Given the description of an element on the screen output the (x, y) to click on. 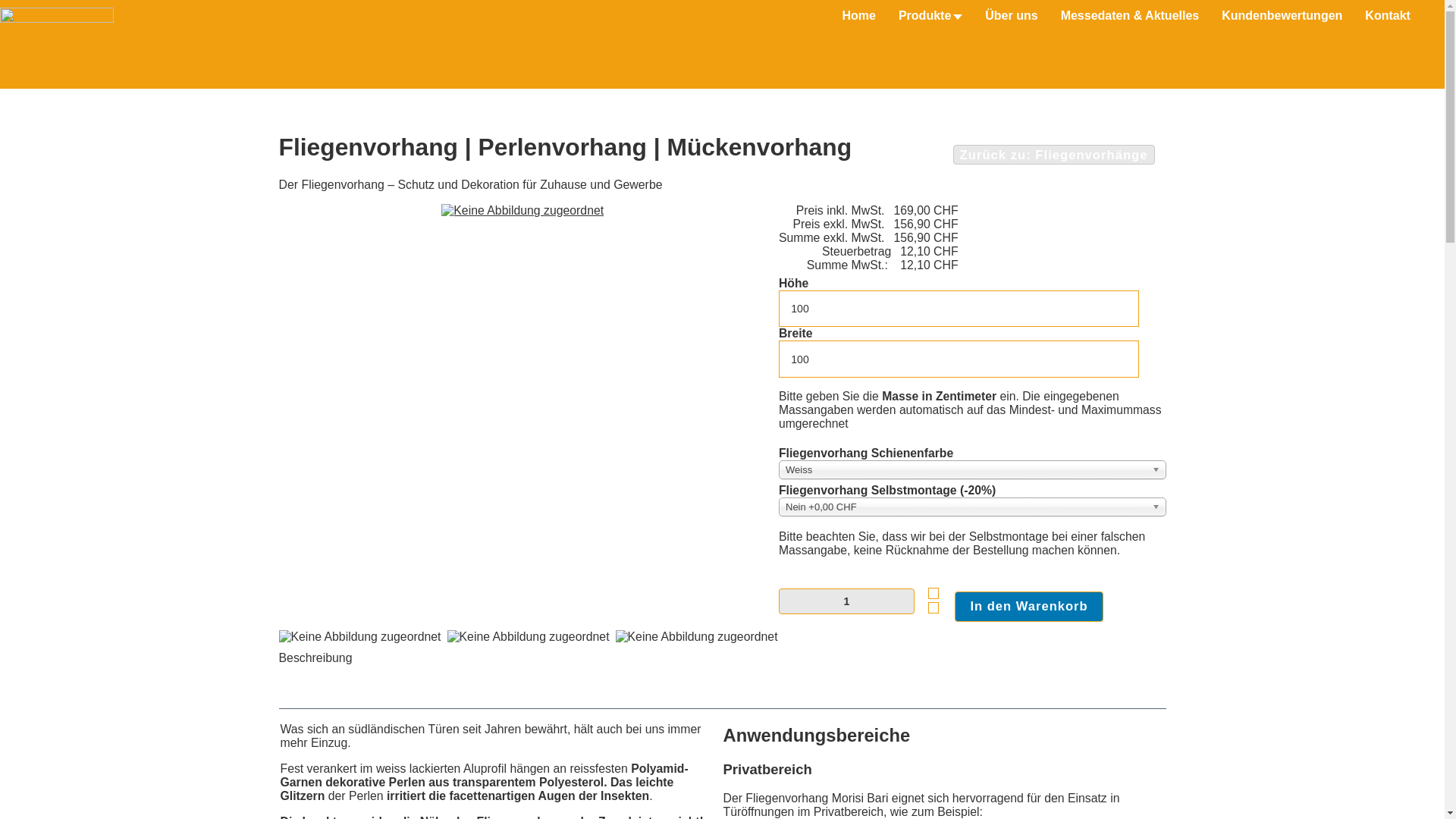
In den Warenkorb Element type: hover (1028, 606)
Weiss Element type: text (972, 469)
Keine Abbildung zugeordnet  Element type: hover (522, 209)
Messedaten & Aktuelles Element type: text (1130, 15)
Kundenbewertungen Element type: text (1281, 15)
Nein +0,00 CHF Element type: text (972, 506)
In den Warenkorb Element type: text (1028, 606)
Kontakt Element type: text (1387, 15)
Home Element type: text (857, 15)
Produkte Element type: text (930, 15)
